Given the description of an element on the screen output the (x, y) to click on. 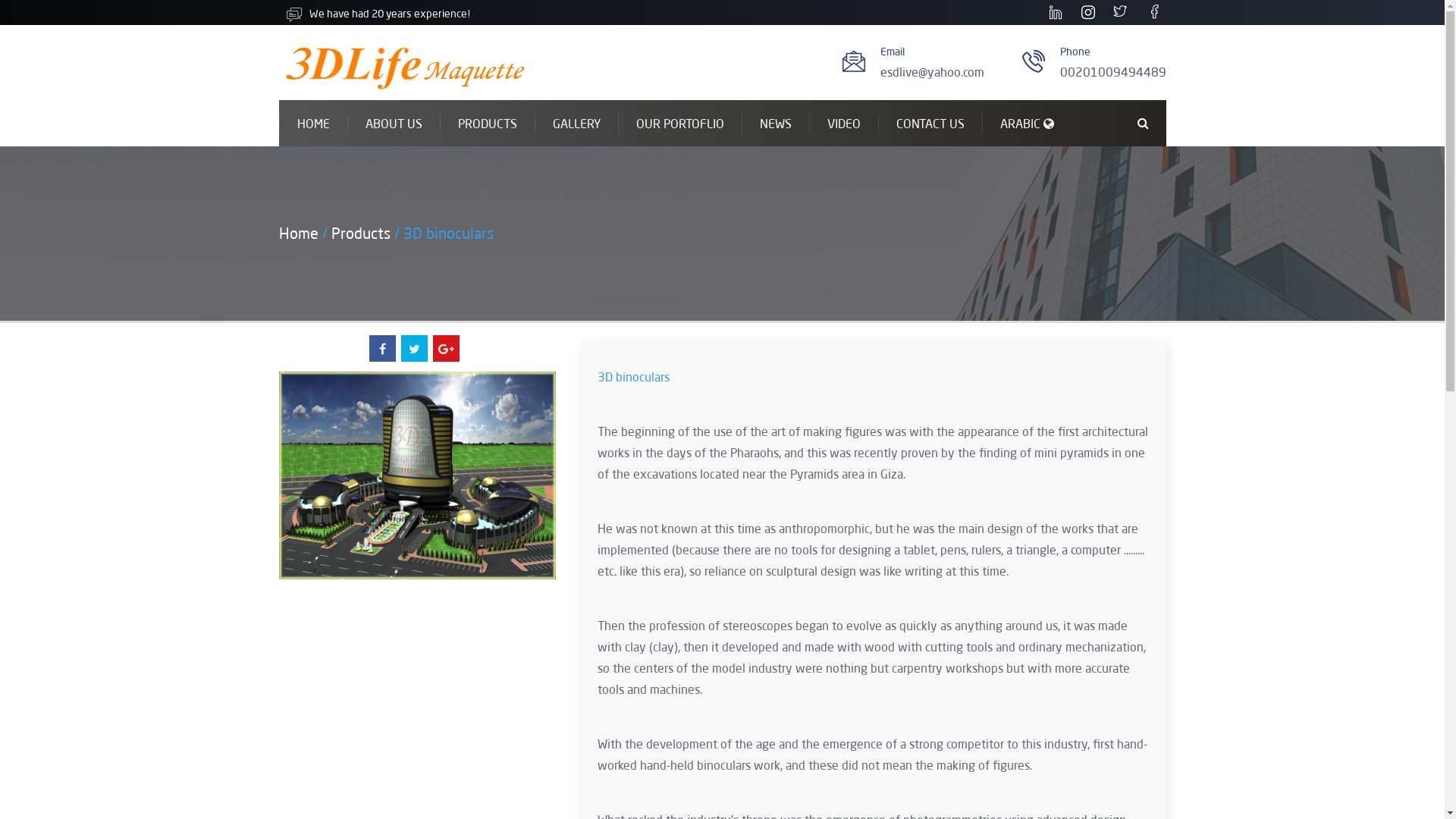
Home Element type: text (298, 232)
CONTACT US Element type: text (930, 122)
OUR PORTOFLIO Element type: text (678, 122)
index.php Element type: hover (404, 62)
HOME Element type: text (313, 122)
ARABIC Element type: text (1025, 122)
GALLERY Element type: text (575, 122)
VIDEO Element type: text (842, 122)
PRODUCTS Element type: text (486, 122)
NEWS Element type: text (775, 122)
esdlive@yahoo.com Element type: text (931, 71)
ABOUT US Element type: text (393, 122)
Products Element type: text (359, 232)
